Given the description of an element on the screen output the (x, y) to click on. 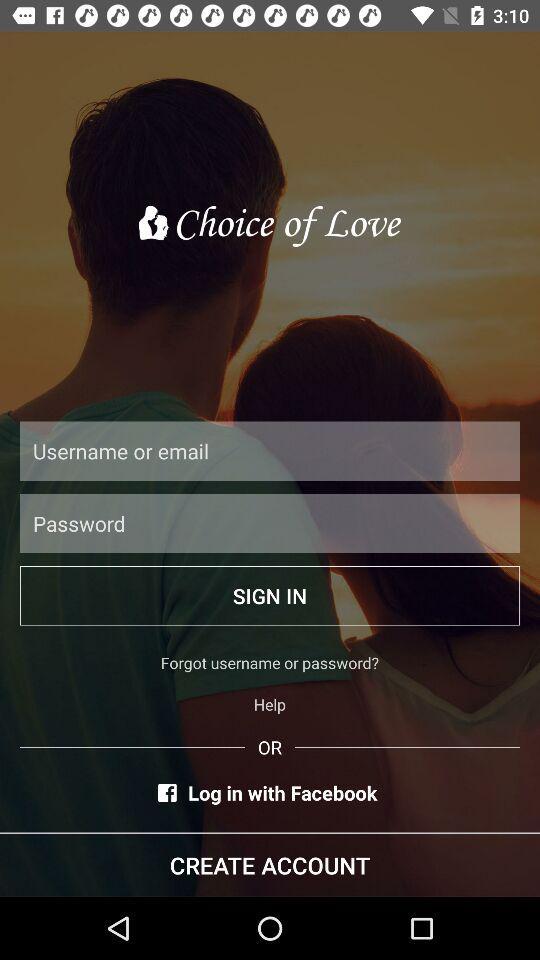
scroll until the help item (269, 703)
